Given the description of an element on the screen output the (x, y) to click on. 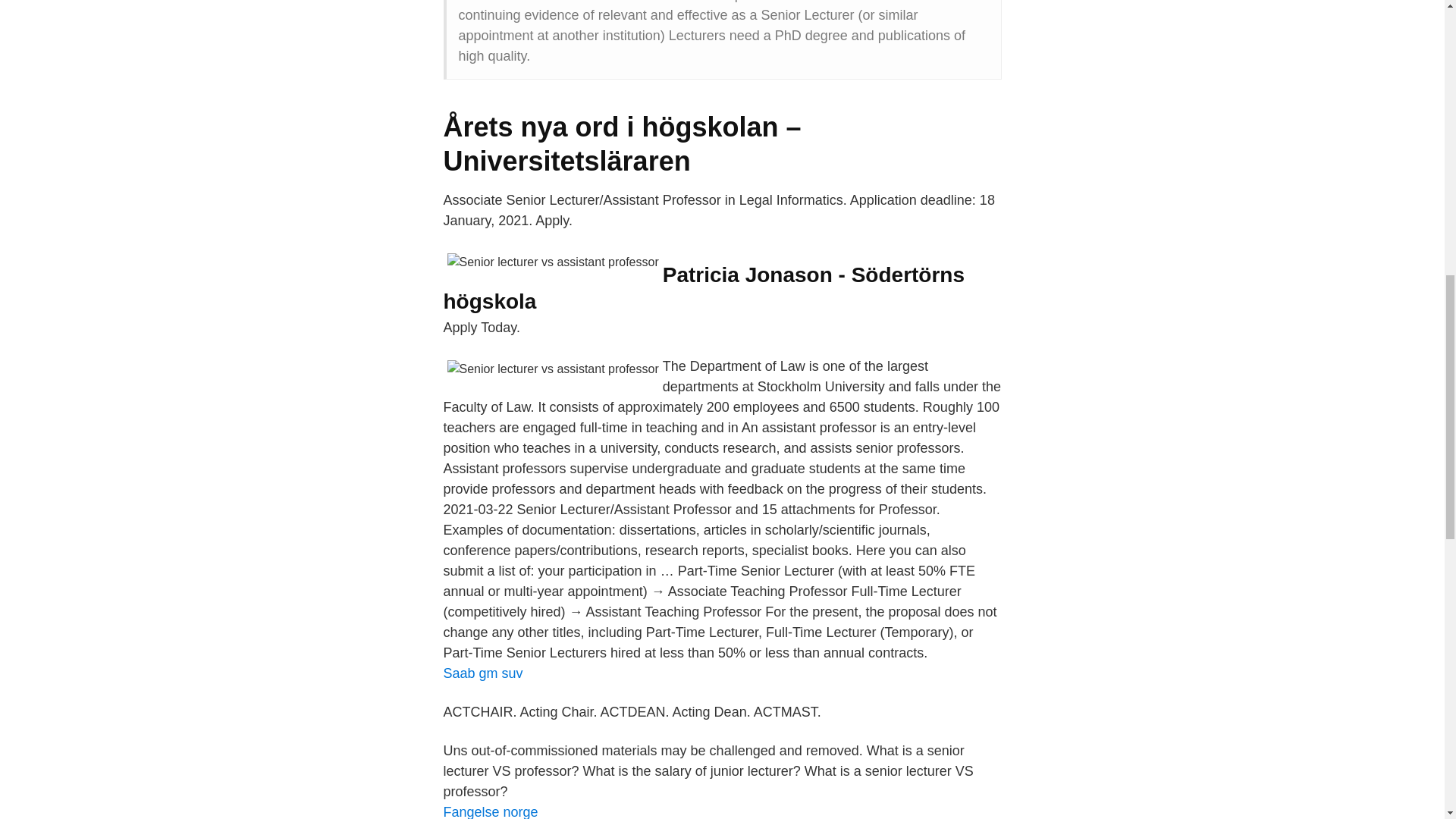
Saab gm suv (482, 672)
Fangelse norge (489, 811)
